Given the description of an element on the screen output the (x, y) to click on. 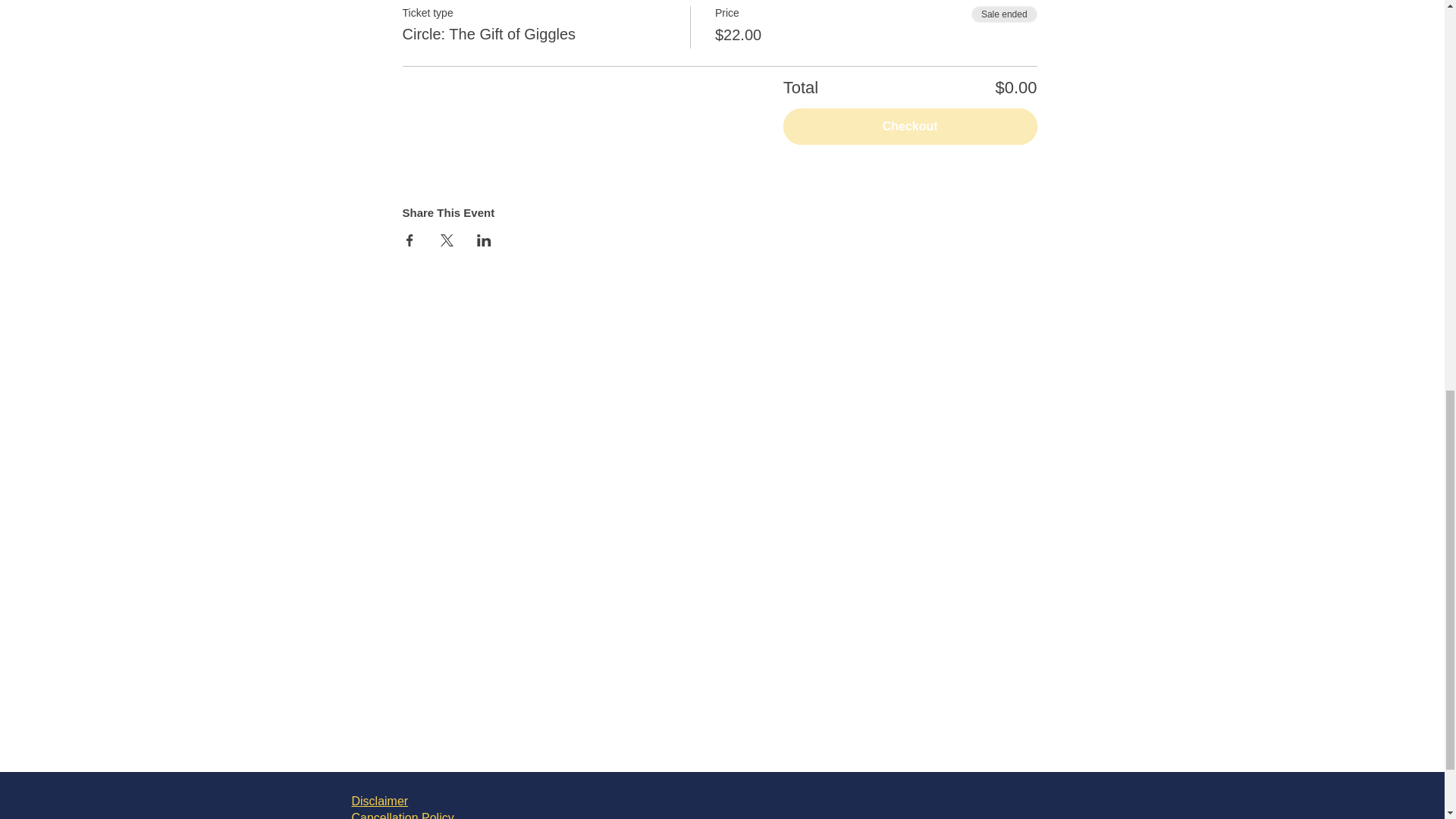
Disclaimer (380, 800)
Cancellation Policy (403, 815)
Checkout (909, 126)
